Given the description of an element on the screen output the (x, y) to click on. 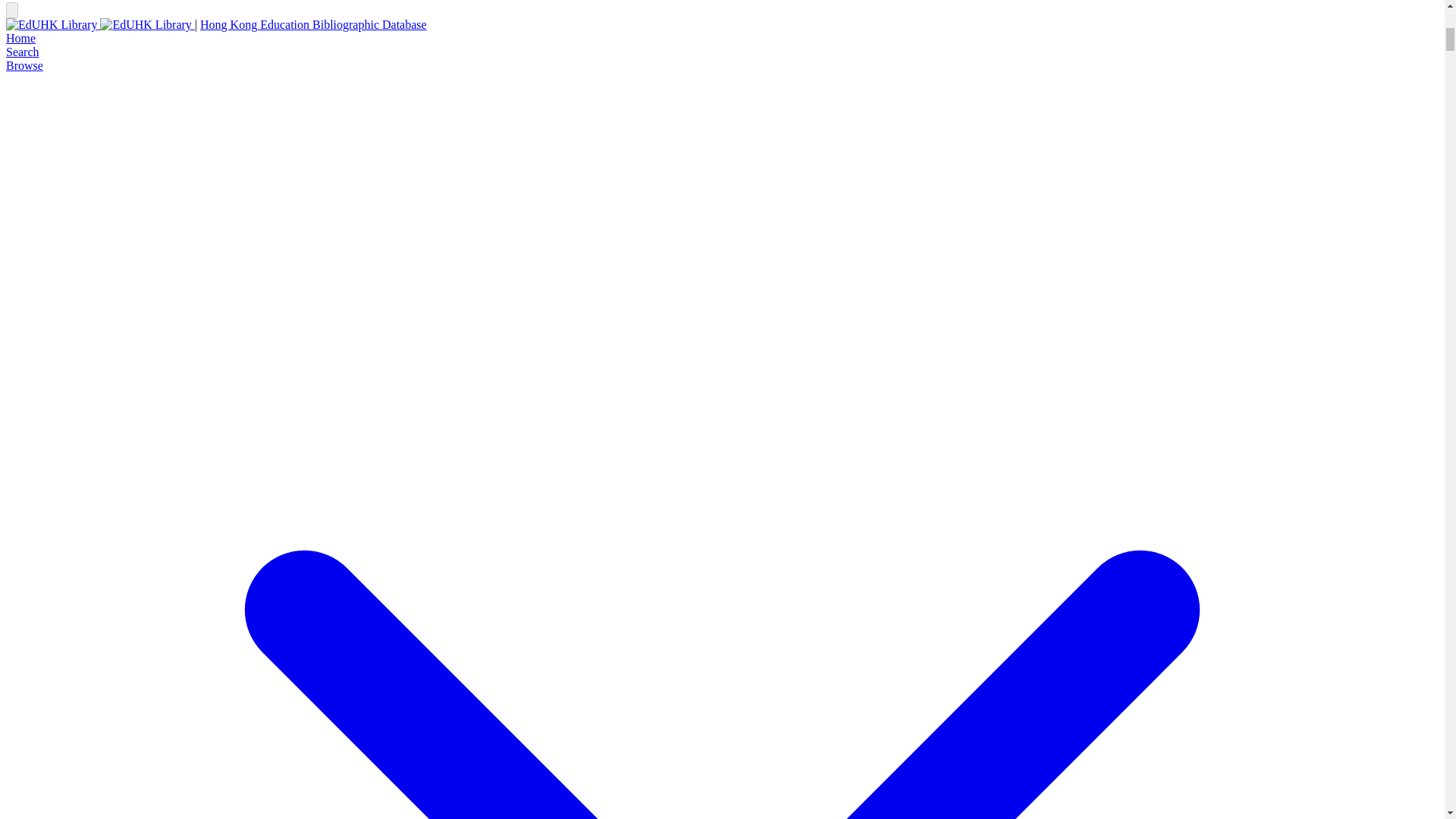
Hong Kong Education Bibliographic Database (313, 24)
Search (22, 51)
Home (19, 38)
